Given the description of an element on the screen output the (x, y) to click on. 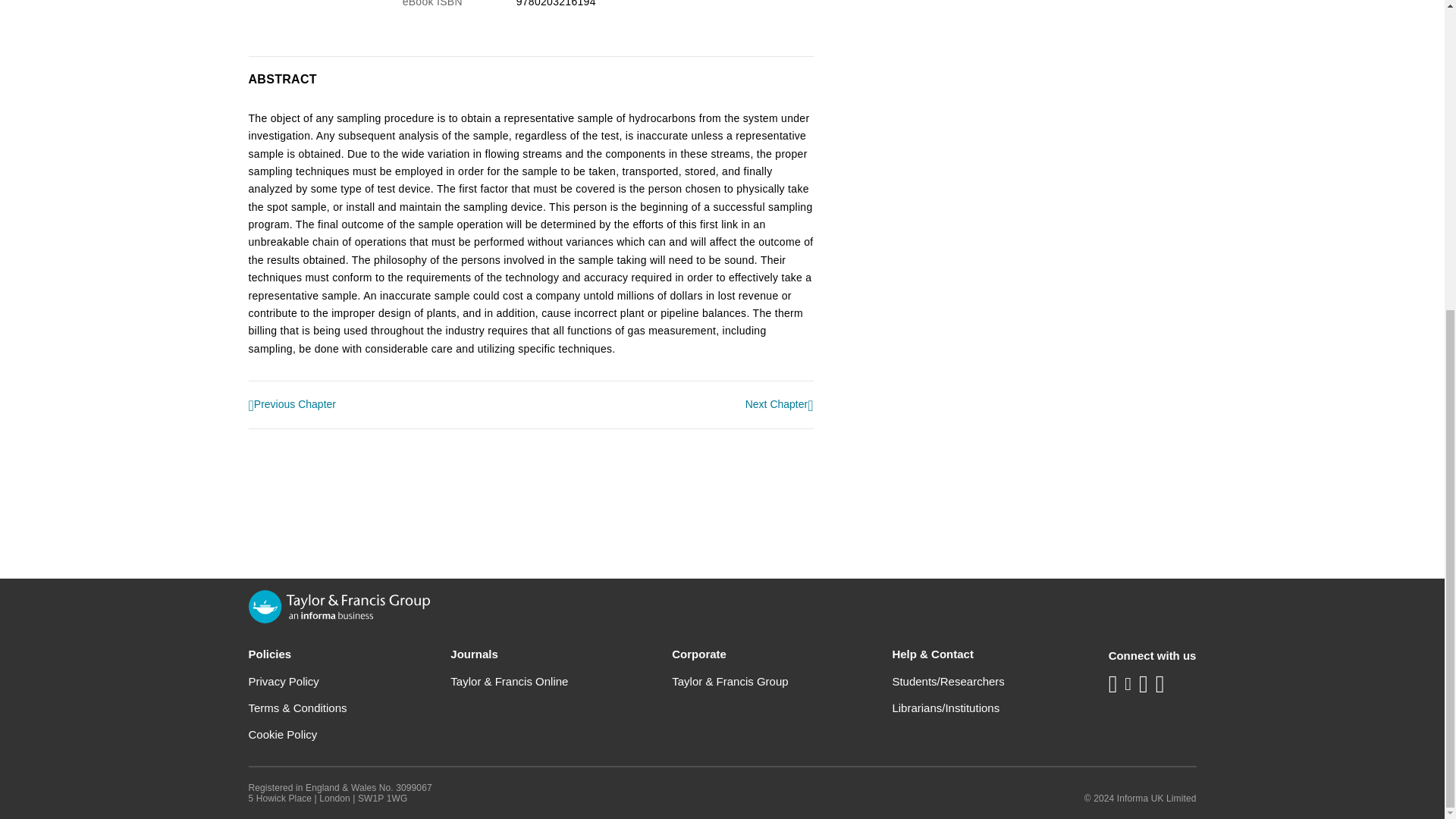
Share (835, 1)
ENERGY MEASUREMENT WITH AN ON-LINE GC (779, 404)
Next Chapter (779, 404)
COMMERCIALLY AVAILABLE CALIBRATION GASES (292, 405)
Previous Chapter (292, 405)
Privacy Policy (283, 681)
Cookie Policy (282, 734)
